Given the description of an element on the screen output the (x, y) to click on. 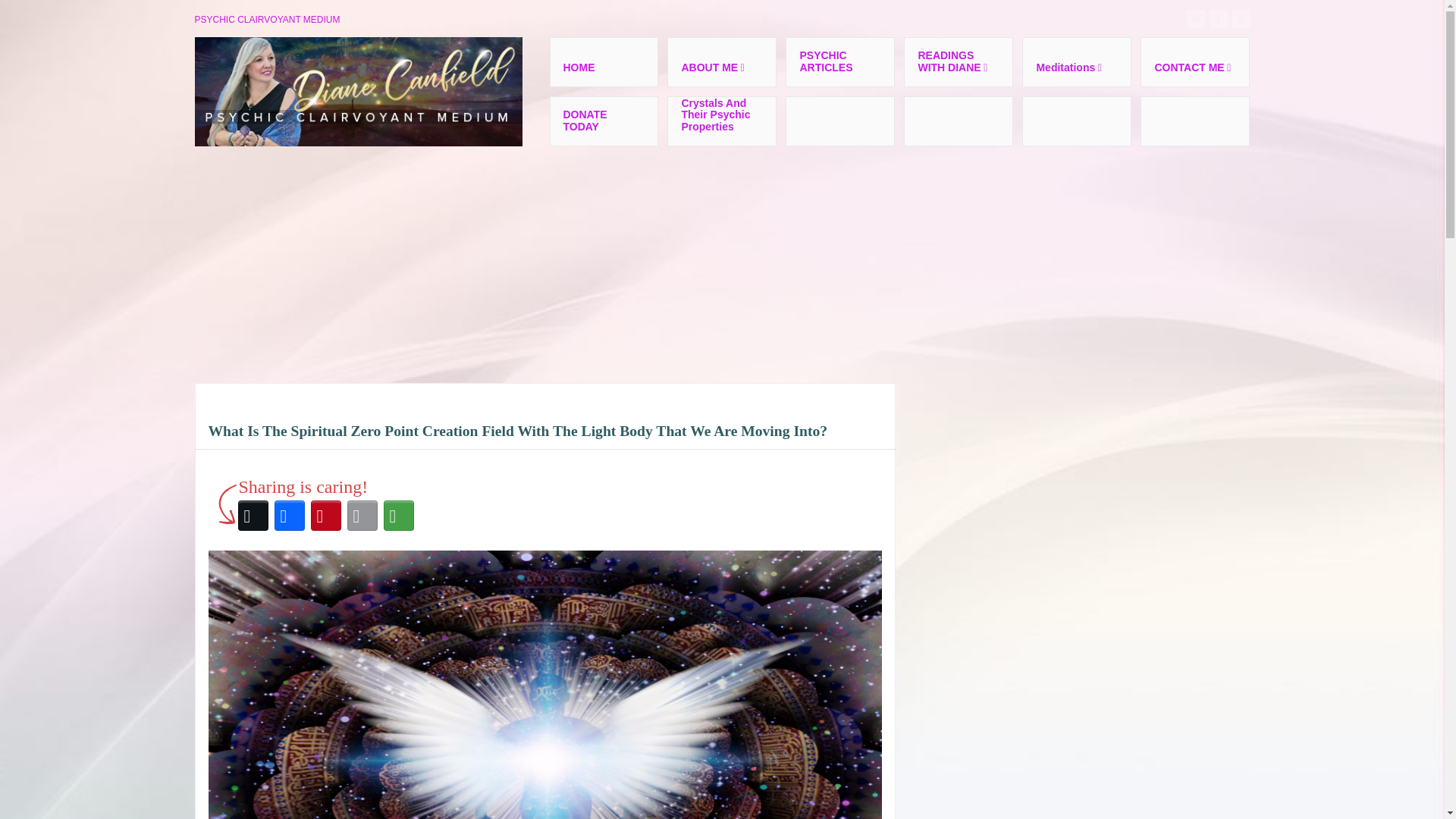
More Options (398, 515)
Crystals And Their Psychic Properties (721, 121)
PSYCHIC ARTICLES (840, 61)
Meditations (1076, 61)
Email This (361, 515)
DONATE TODAY (603, 121)
ABOUT ME (721, 61)
READINGS WITH DIANE (958, 61)
Pinterest (325, 515)
CONTACT ME (1194, 61)
